Given the description of an element on the screen output the (x, y) to click on. 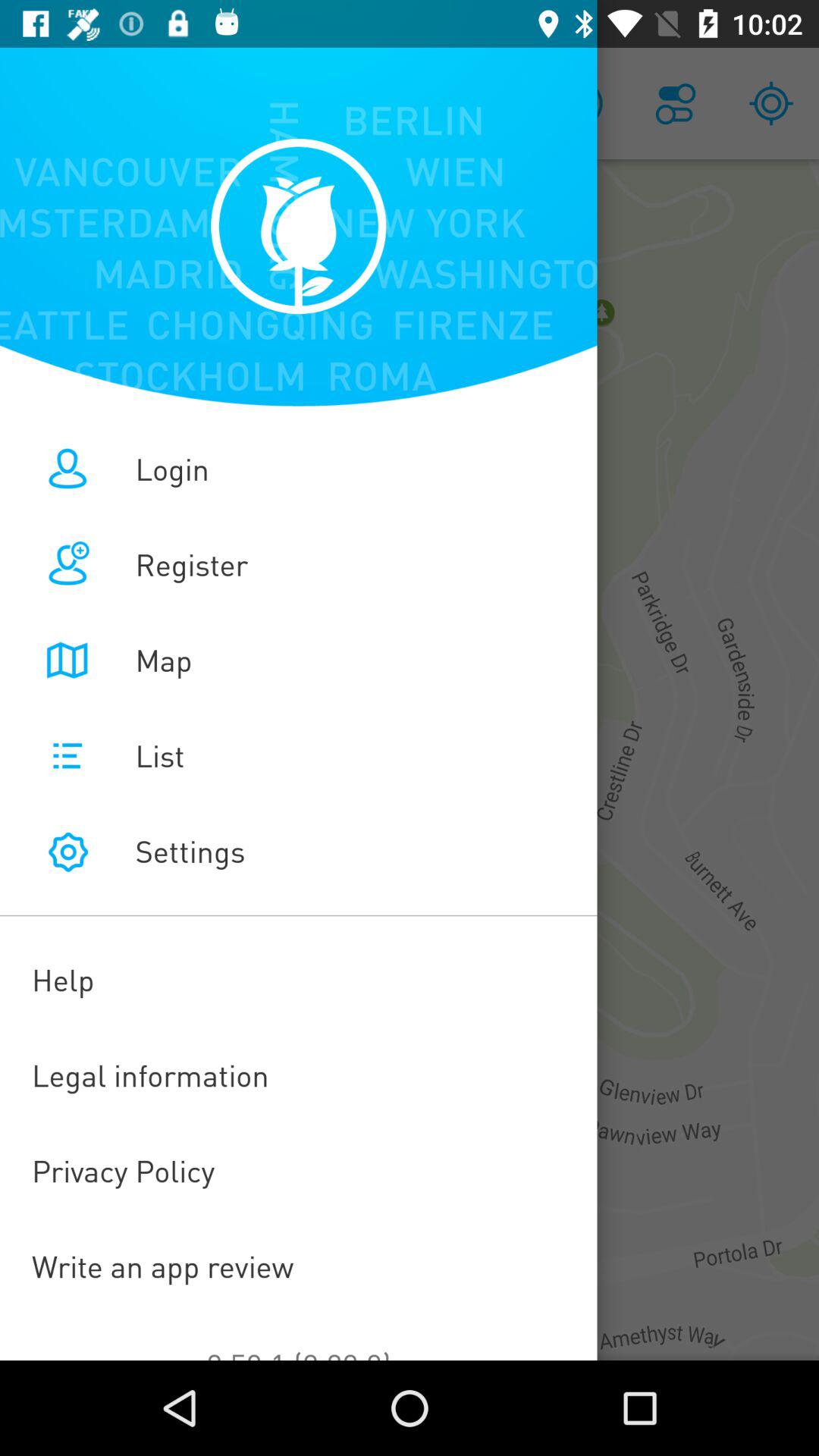
select the icon left to the recentric icon (675, 103)
